Given the description of an element on the screen output the (x, y) to click on. 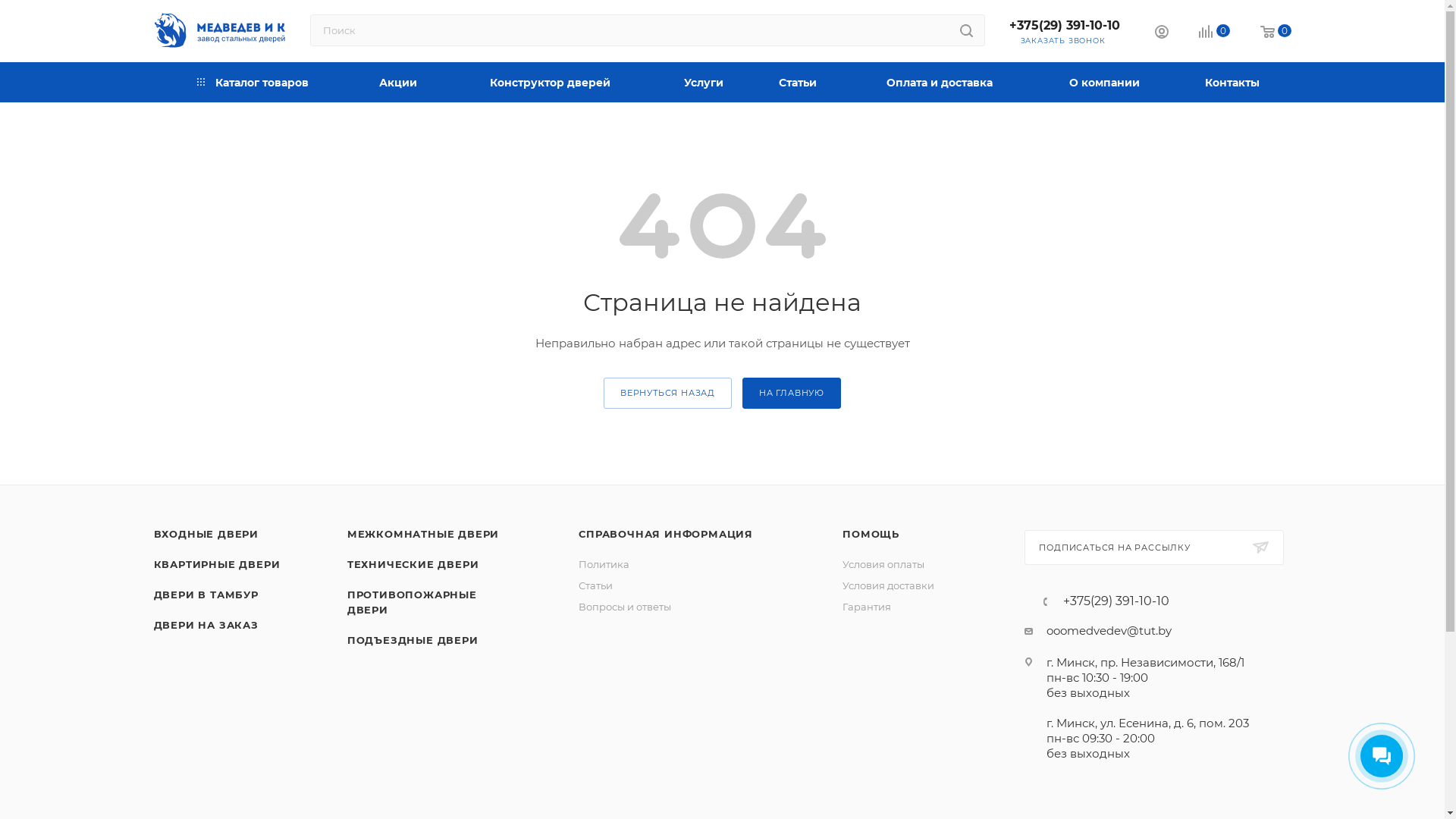
0 Element type: text (1275, 31)
0 Element type: text (1213, 31)
+375(29) 391-10-10 Element type: text (1116, 601)
ooomedvedev@tut.by Element type: text (1108, 630)
+375(29) 391-10-10 Element type: text (1063, 25)
